Given the description of an element on the screen output the (x, y) to click on. 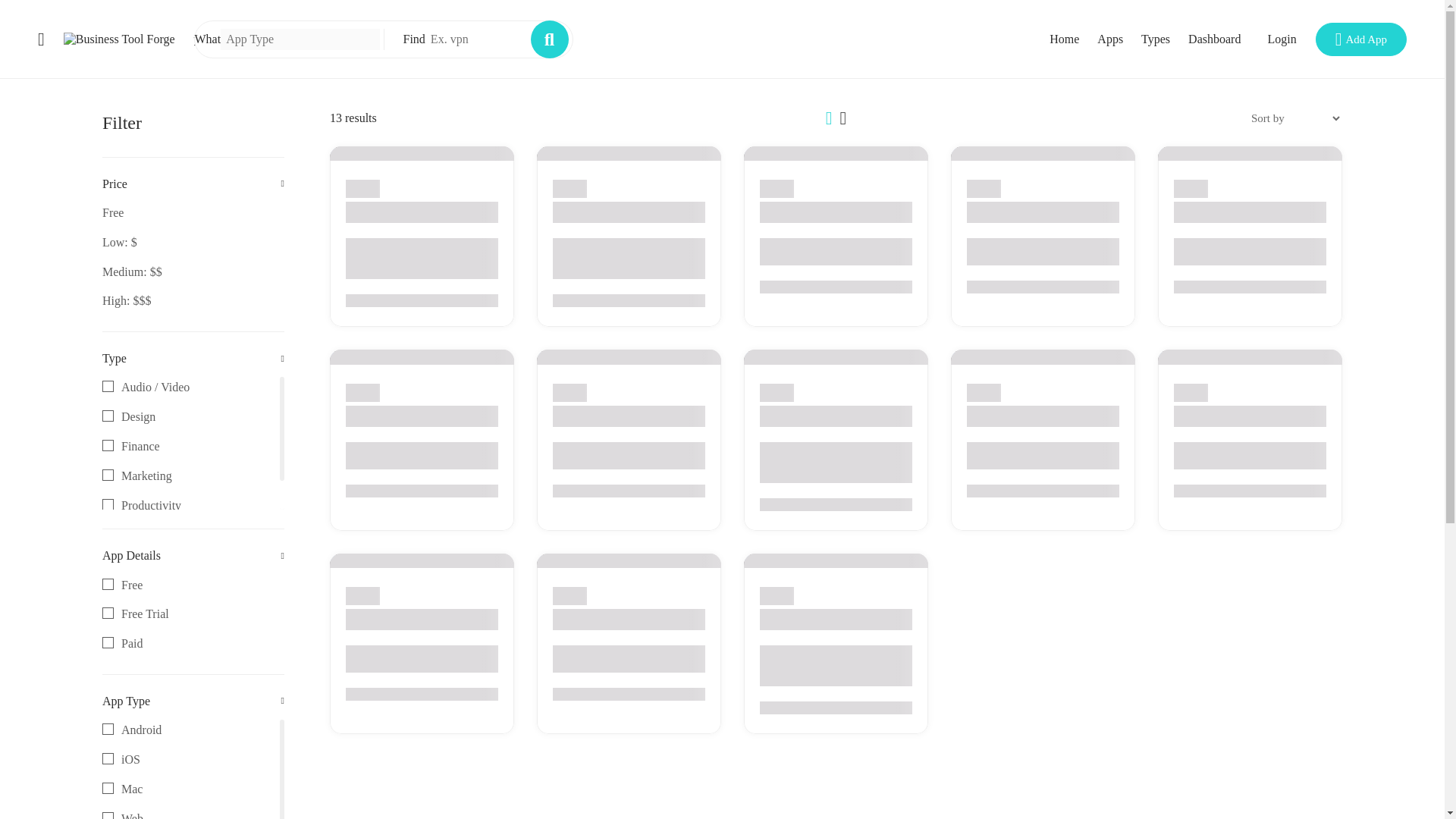
302 (107, 642)
Wix (192, 614)
298 (346, 357)
Framer (107, 504)
Adobe Dreamweaver (560, 561)
Squarespace (192, 769)
311 (801, 153)
GoDaddy (573, 153)
295 (107, 583)
294 (980, 357)
Figma (107, 728)
Google Web Designer (107, 787)
303 (351, 561)
